Given the description of an element on the screen output the (x, y) to click on. 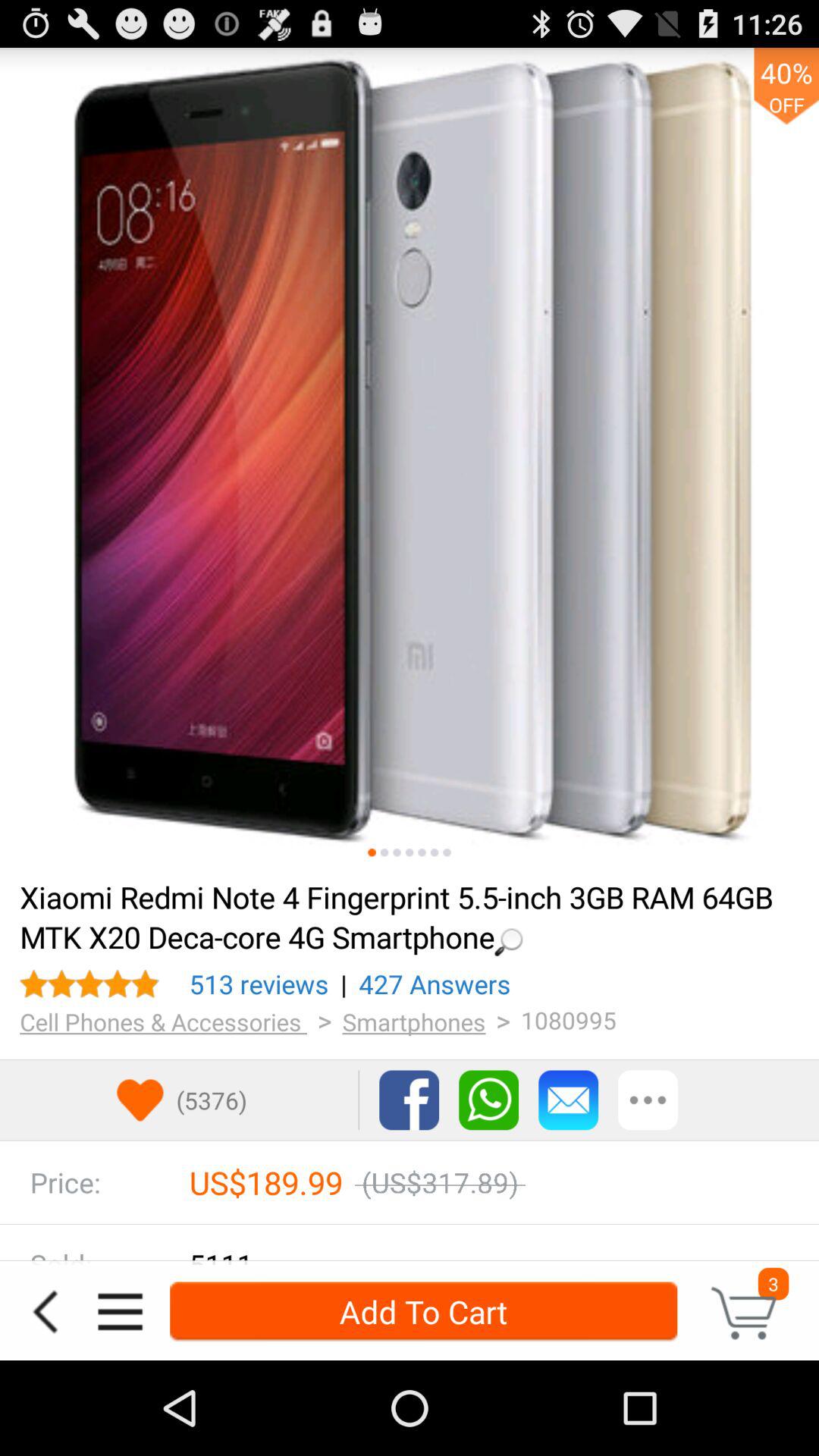
toggle more options (647, 1100)
